Given the description of an element on the screen output the (x, y) to click on. 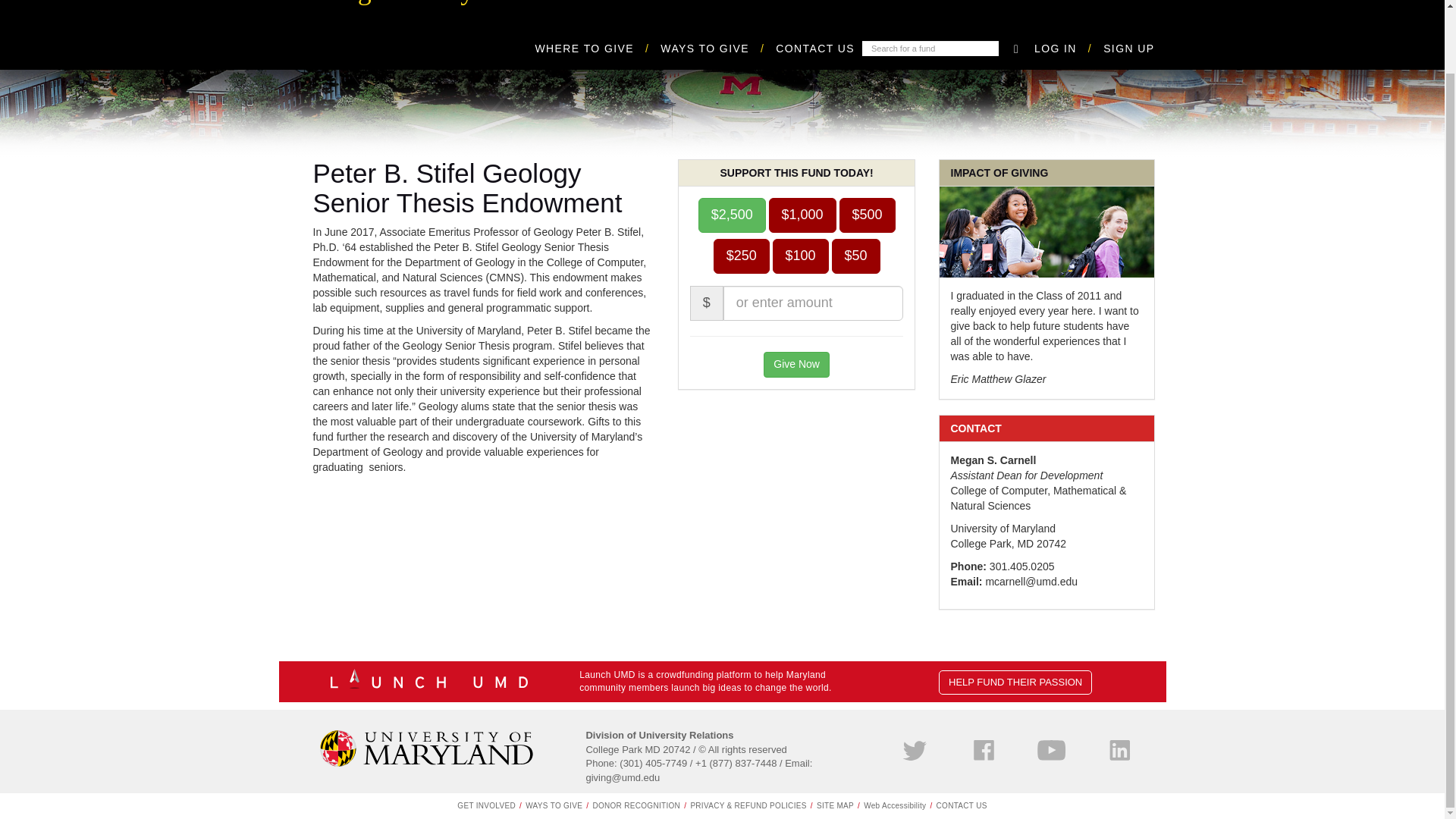
WHERE TO GIVE (598, 48)
CONTACT US (815, 48)
SIGN UP (1128, 48)
Giving to Maryland (408, 8)
LOG IN (1068, 48)
WAYS TO GIVE (718, 48)
HELP FUND THEIR PASSION (1015, 682)
Giving homepage link (408, 8)
Give Now (795, 364)
